Given the description of an element on the screen output the (x, y) to click on. 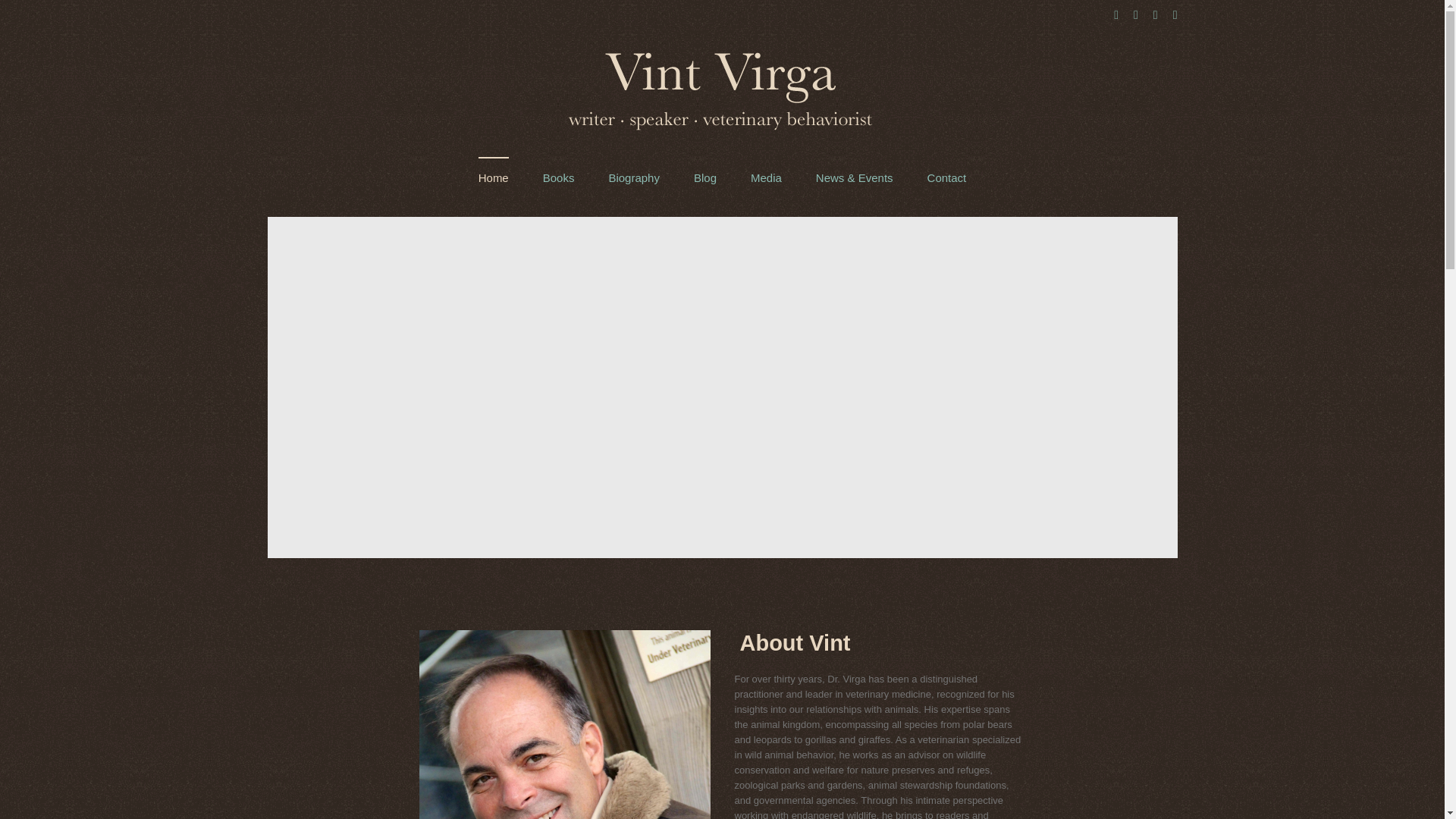
Contact (946, 177)
Biography (633, 177)
